Given the description of an element on the screen output the (x, y) to click on. 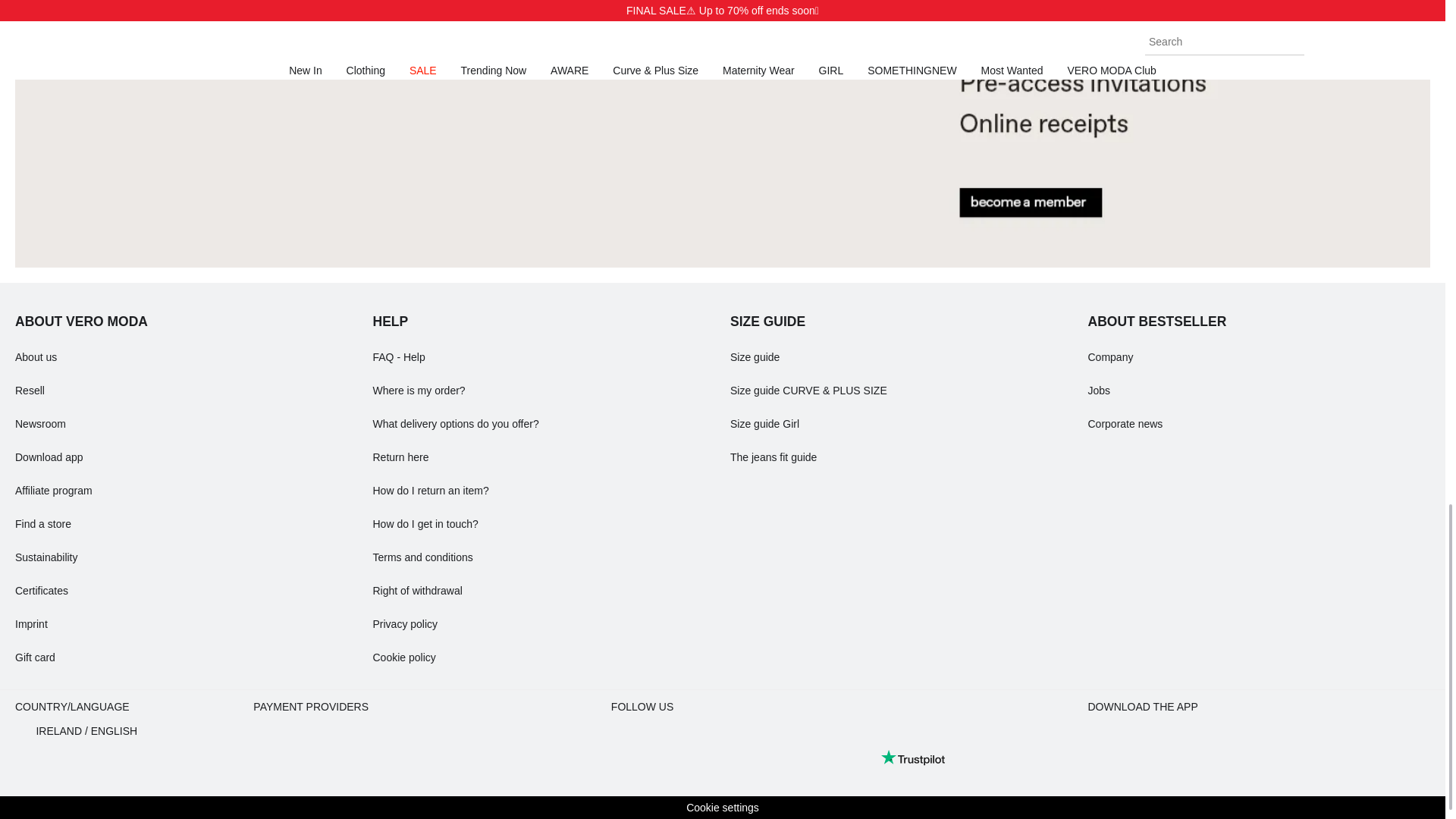
Customer reviews powered by Trustpilot (912, 757)
